Given the description of an element on the screen output the (x, y) to click on. 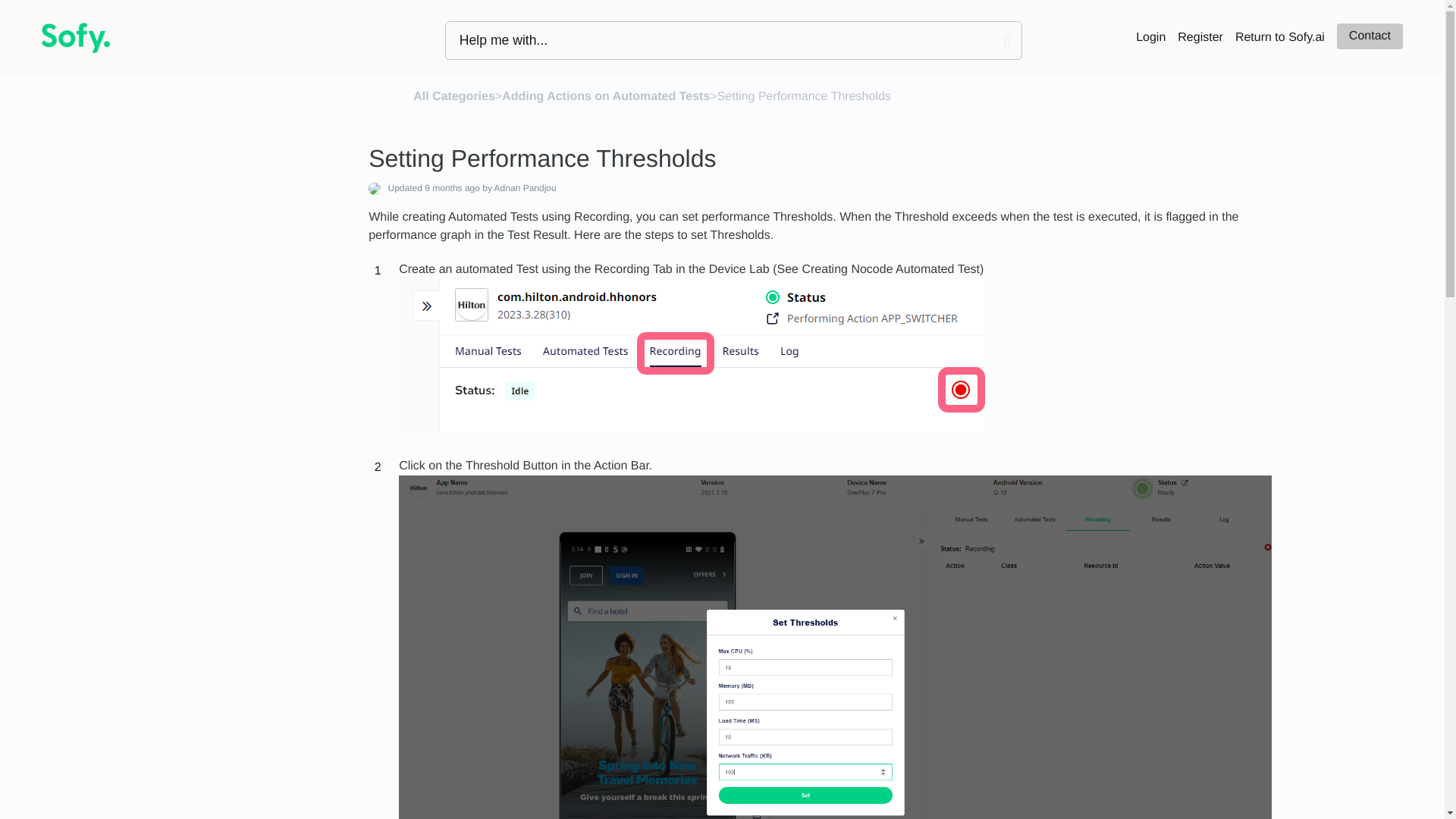
Contact (1369, 36)
Login (1150, 37)
Register (1200, 37)
Return to Sofy.ai (1279, 37)
